Given the description of an element on the screen output the (x, y) to click on. 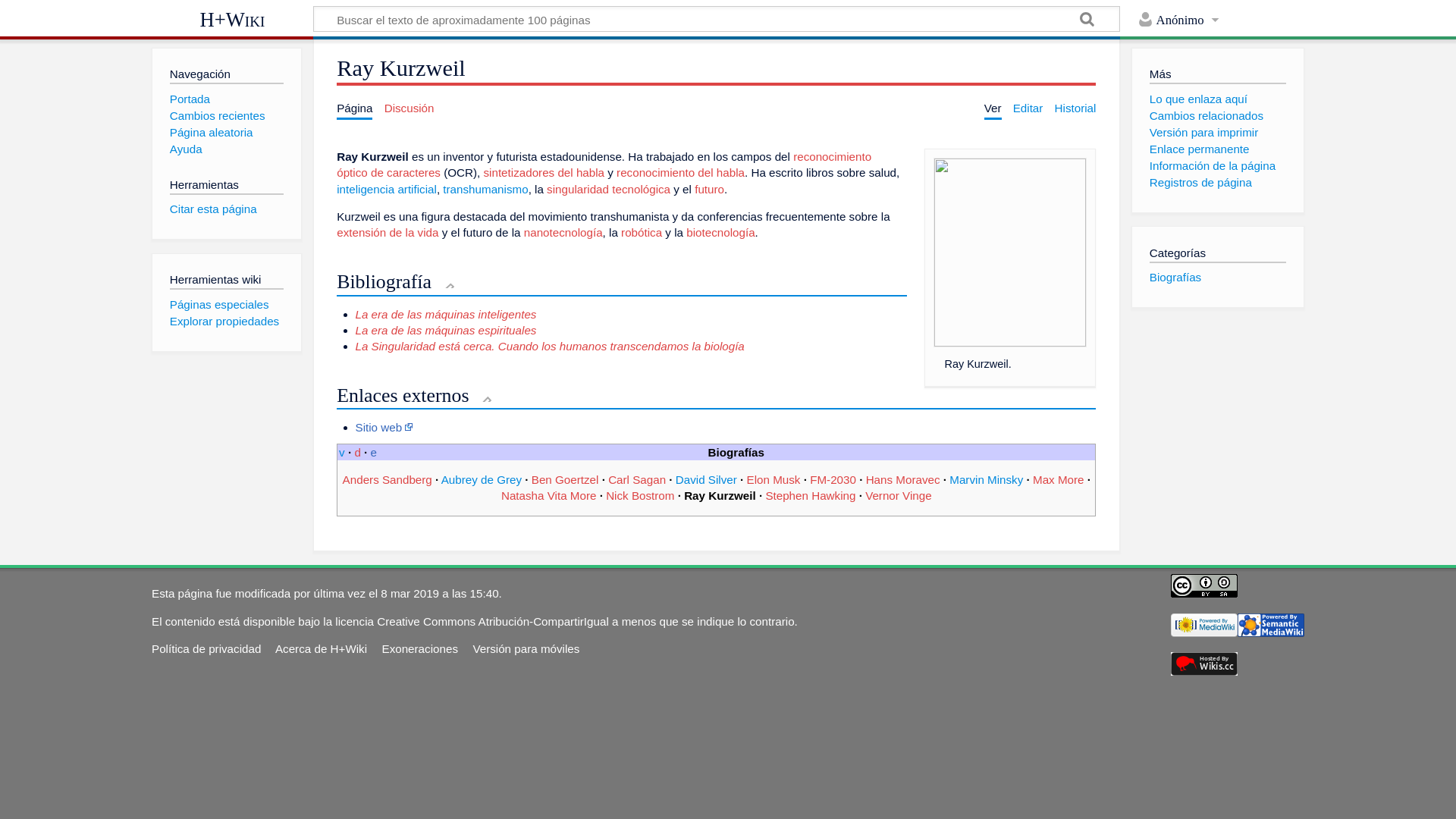
Sitio web Element type: text (383, 426)
Carl Sagan Element type: text (636, 479)
Stephen Hawking Element type: text (810, 495)
Nick Bostrom Element type: text (639, 495)
e Element type: text (373, 451)
FM-2030 Element type: text (832, 479)
futuro Element type: text (709, 188)
Historial Element type: text (1075, 107)
reconocimiento del habla Element type: text (680, 172)
Anders Sandberg Element type: text (387, 479)
sintetizadores del habla Element type: text (543, 172)
inteligencia artificial Element type: text (386, 188)
H+Wiki Element type: text (232, 20)
transhumanismo Element type: text (484, 188)
Portada Element type: text (189, 98)
David Silver Element type: text (706, 479)
Editar Element type: text (1028, 107)
v Element type: text (341, 451)
Natasha Vita More Element type: text (548, 495)
Exoneraciones Element type: text (420, 648)
Hans Moravec Element type: text (903, 479)
Buscar en H+Wiki [alt-shift-f] Element type: hover (716, 18)
Ver Element type: text (992, 107)
Enlace permanente Element type: text (1199, 148)
Ayuda Element type: text (185, 148)
Cambios relacionados Element type: text (1206, 115)
Max More Element type: text (1058, 479)
Marvin Minsky Element type: text (985, 479)
Acerca de H+Wiki Element type: text (321, 648)
Ir Element type: text (1087, 20)
Elon Musk Element type: text (773, 479)
Explorar propiedades Element type: text (224, 320)
Aubrey de Grey Element type: text (481, 479)
d Element type: text (357, 451)
Vernor Vinge Element type: text (898, 495)
Cambios recientes Element type: text (217, 115)
Ben Goertzel Element type: text (565, 479)
